Given the description of an element on the screen output the (x, y) to click on. 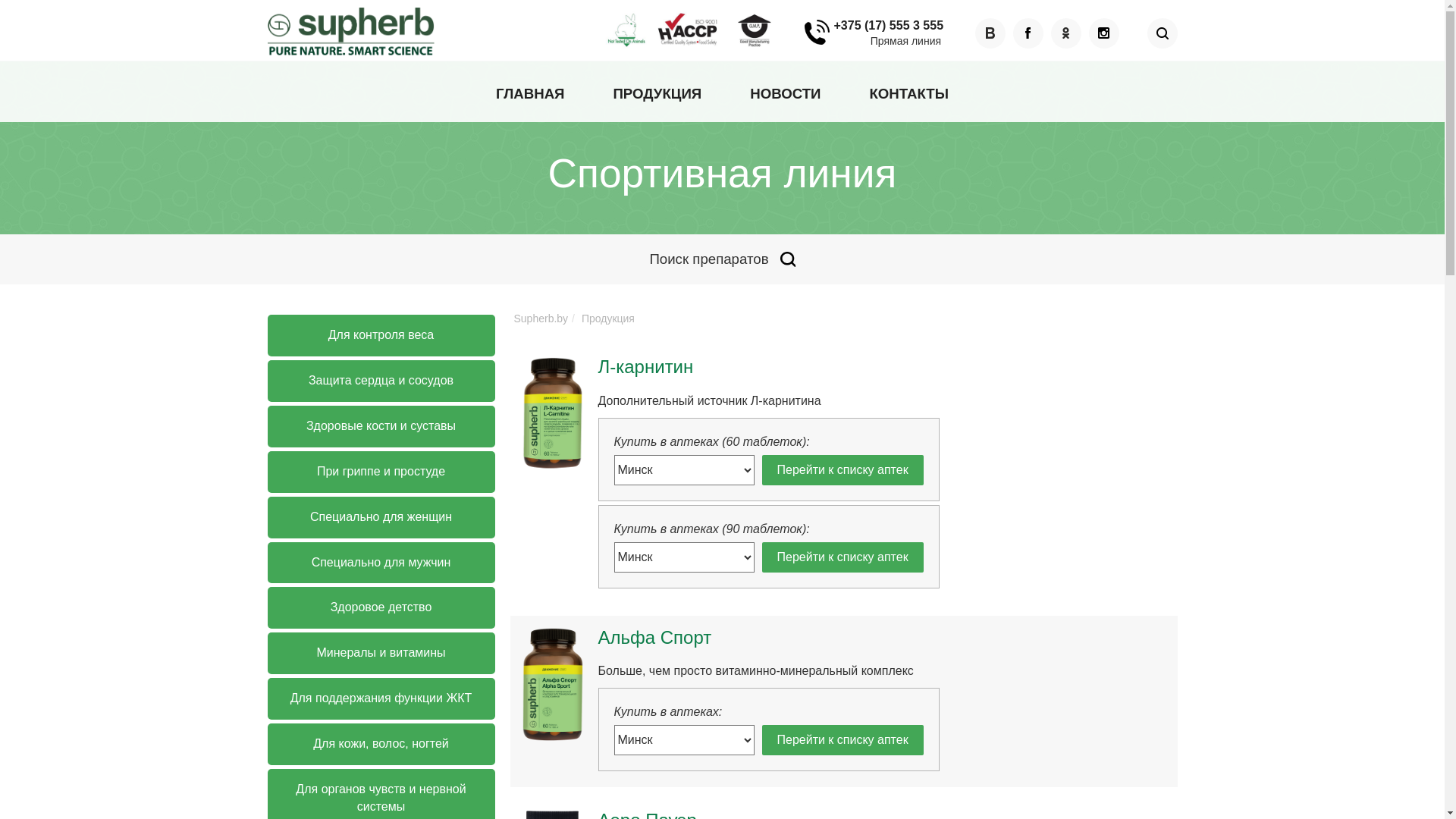
Supherb.by Element type: text (540, 318)
+375 (17) 555 3 555 Element type: text (874, 31)
